Given the description of an element on the screen output the (x, y) to click on. 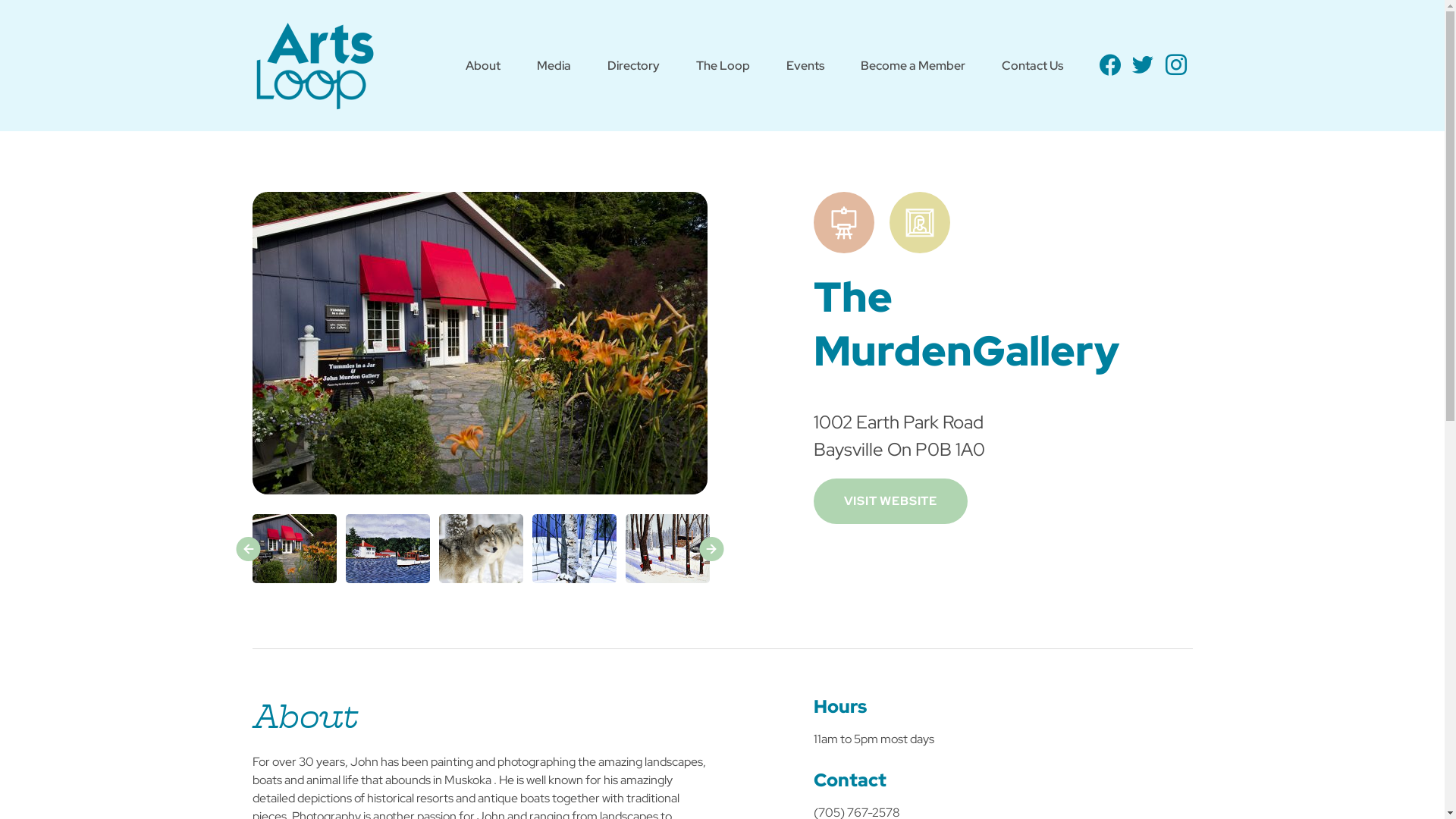
VISIT WEBSITE Element type: text (889, 501)
Media Element type: text (553, 66)
The Loop Element type: text (722, 66)
Events Element type: text (805, 66)
Artists & Photographers Element type: hover (850, 224)
About Element type: text (482, 66)
Directory Element type: text (633, 66)
Galleries Element type: hover (926, 224)
Become a Member Element type: text (912, 66)
Contact Us Element type: text (1032, 66)
